Given the description of an element on the screen output the (x, y) to click on. 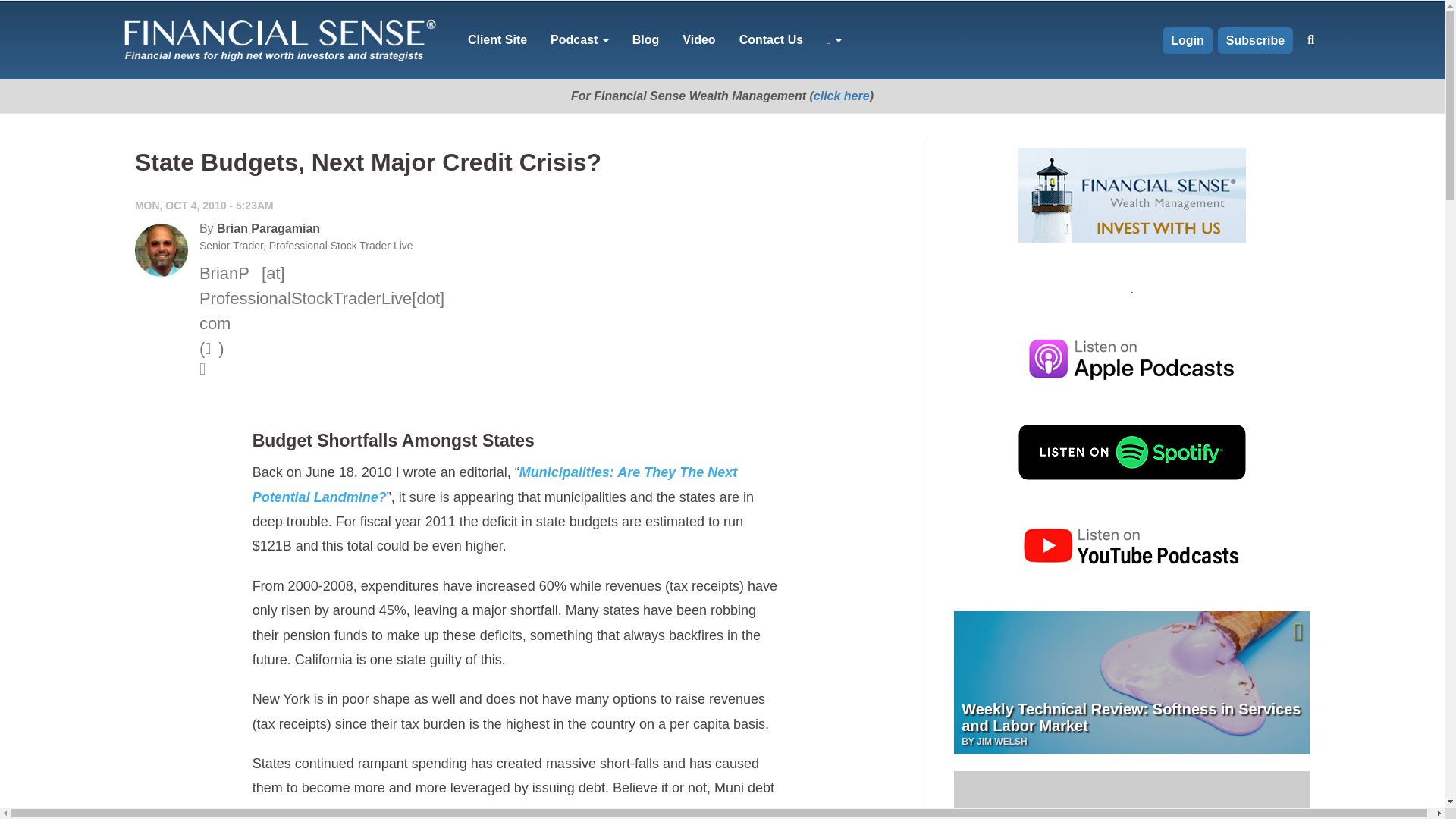
Blog (645, 39)
Financial Sense Wealth Management: Invest With Us (1131, 195)
View profile. (161, 249)
Brian Paragamian (268, 228)
View profile. (268, 228)
Login (1186, 40)
spotify (1131, 452)
Contact Us (771, 39)
Client Site (497, 39)
apple podcast (1131, 359)
Podcast (580, 39)
Subscribe (1254, 40)
Home - Financial Sense (278, 40)
Video (698, 39)
